Given the description of an element on the screen output the (x, y) to click on. 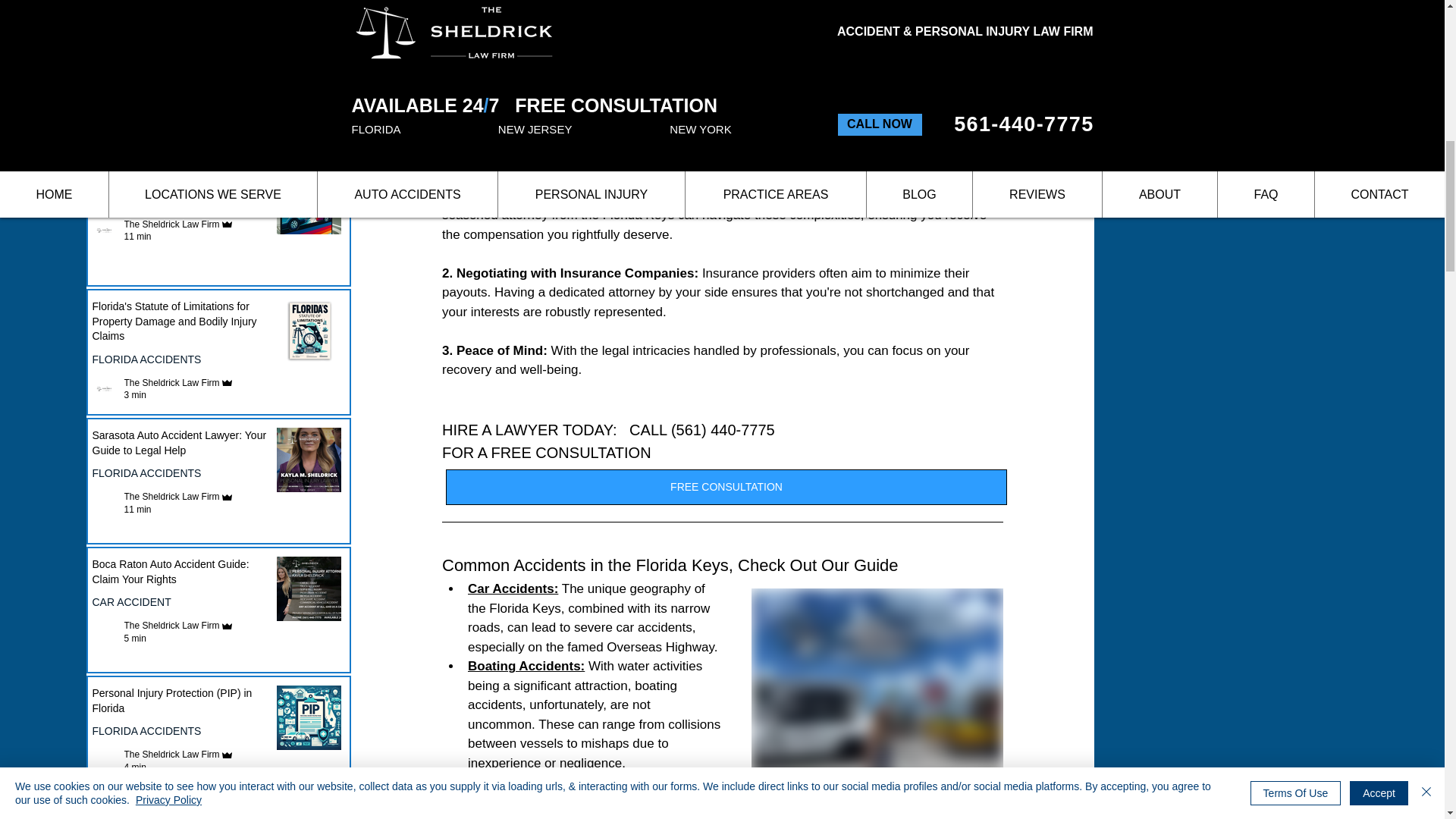
3 min (135, 394)
The Sheldrick Law Firm (171, 124)
The Sheldrick Law Firm (171, 754)
The Sheldrick Law Firm (171, 0)
11 min (137, 235)
8 min (135, 8)
The Sheldrick Law Firm (171, 624)
The Sheldrick Law Firm (171, 382)
The Sheldrick Law Firm (171, 224)
11 min (137, 509)
5 min (135, 136)
The Sheldrick Law Firm (171, 496)
5 min (135, 638)
